Given the description of an element on the screen output the (x, y) to click on. 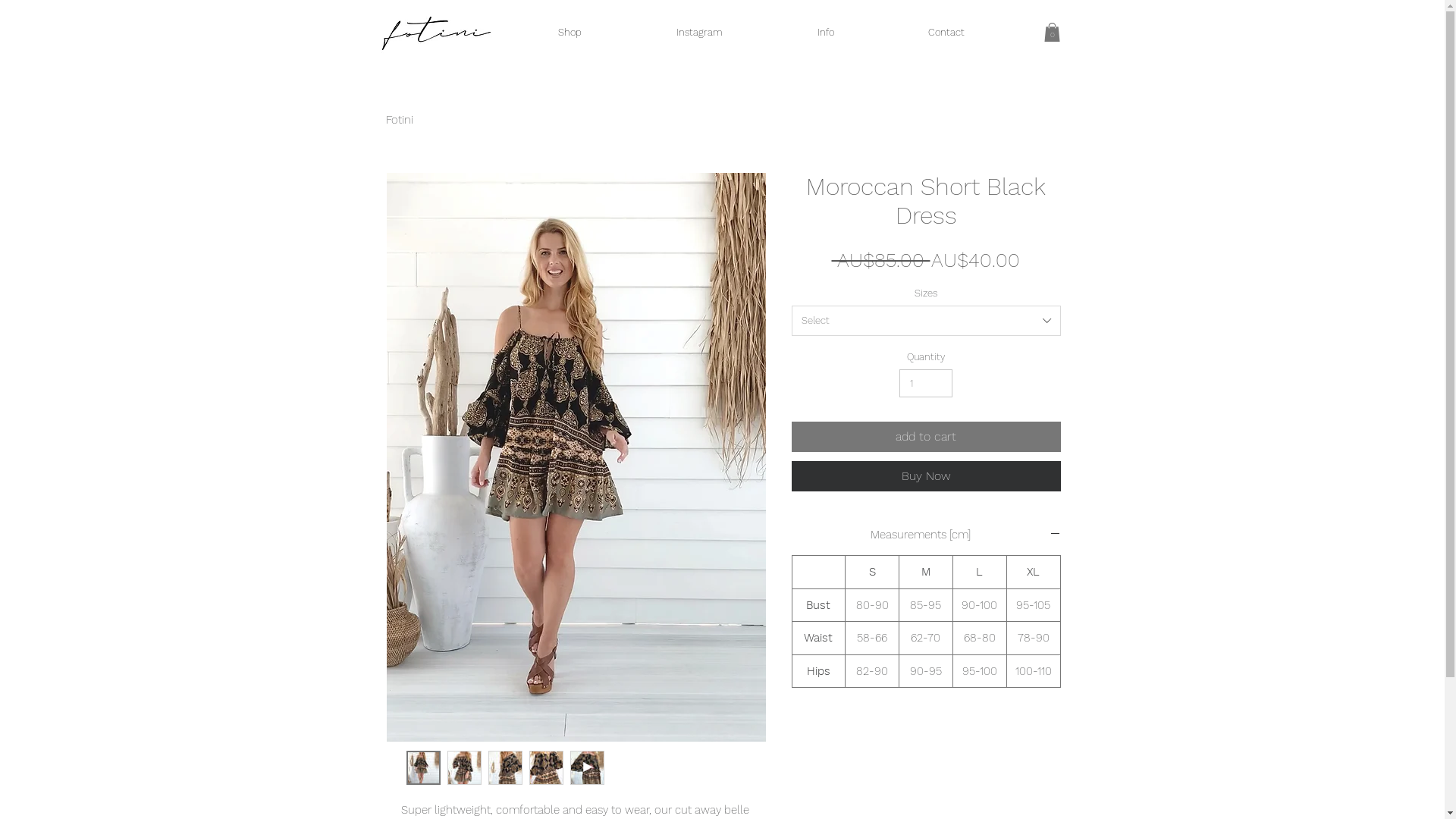
Buy Now Element type: text (925, 476)
Shop Element type: text (570, 32)
Contact Element type: text (946, 32)
0 Element type: text (1051, 31)
Info Element type: text (825, 32)
Instagram Element type: text (699, 32)
add to cart Element type: text (925, 436)
Select Element type: text (925, 320)
Measurements [cm] Element type: text (925, 534)
Fotini Element type: text (398, 119)
